Given the description of an element on the screen output the (x, y) to click on. 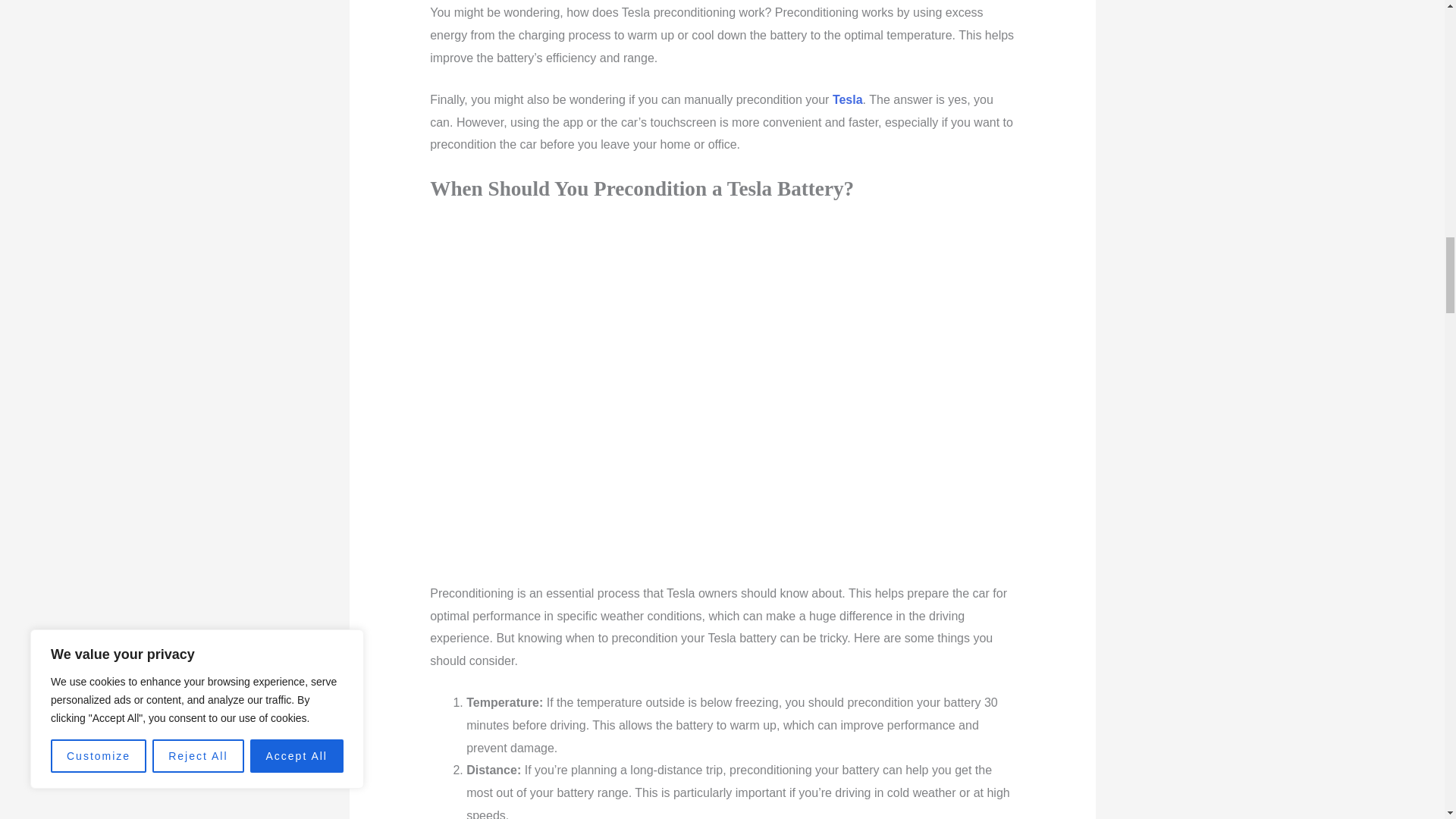
Tesla (847, 99)
